Given the description of an element on the screen output the (x, y) to click on. 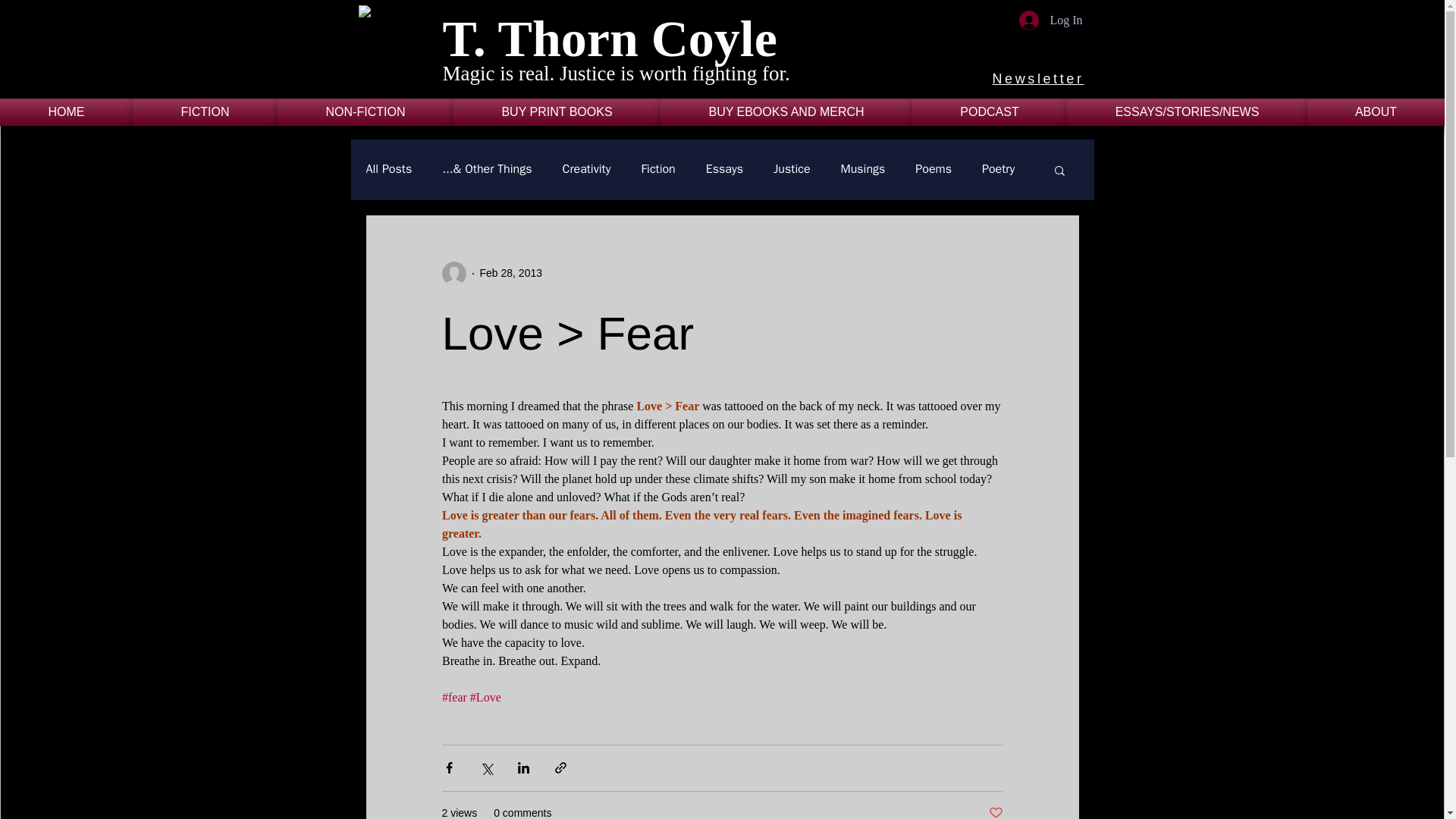
Feb 28, 2013 (510, 272)
Musings (863, 169)
HOME (66, 112)
Essays (724, 169)
Creativity (586, 169)
Newsletter (1037, 78)
NON-FICTION (365, 112)
Poetry (997, 169)
Post not marked as liked (995, 812)
PODCAST (989, 112)
